Given the description of an element on the screen output the (x, y) to click on. 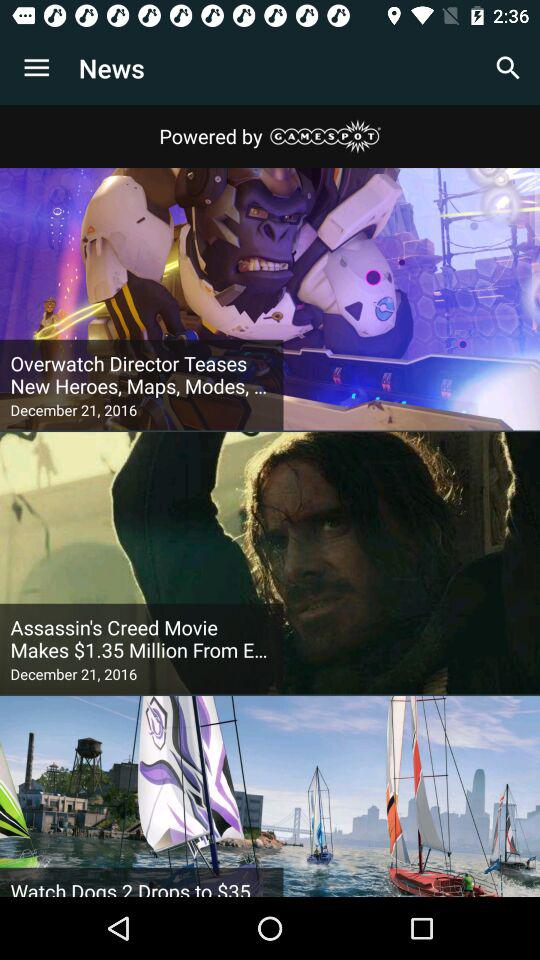
select the app to the left of news (36, 68)
